Given the description of an element on the screen output the (x, y) to click on. 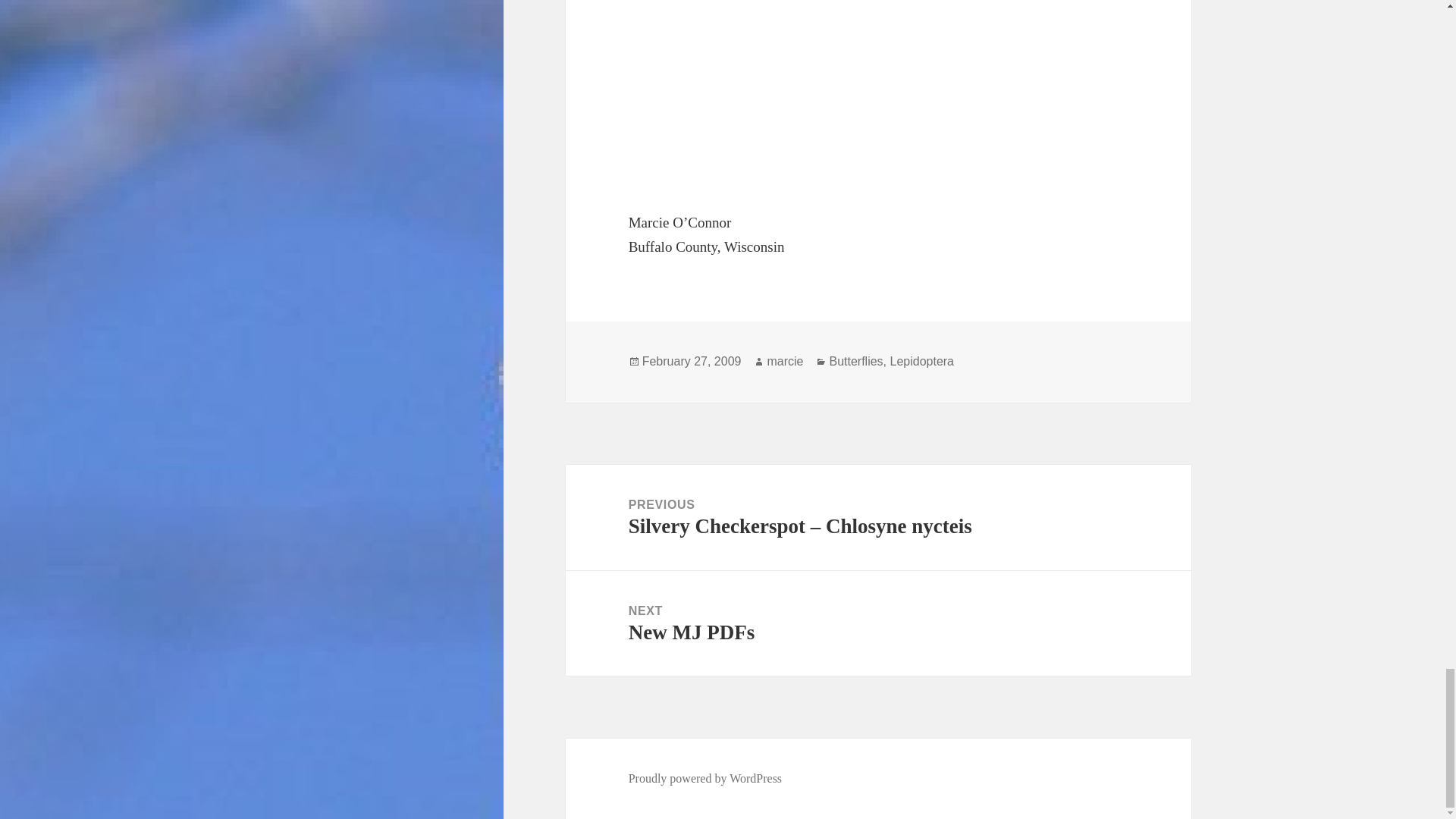
Lepidoptera (921, 361)
February 27, 2009 (691, 361)
marcie (785, 361)
Butterflies (855, 361)
Proudly powered by WordPress (878, 623)
